Given the description of an element on the screen output the (x, y) to click on. 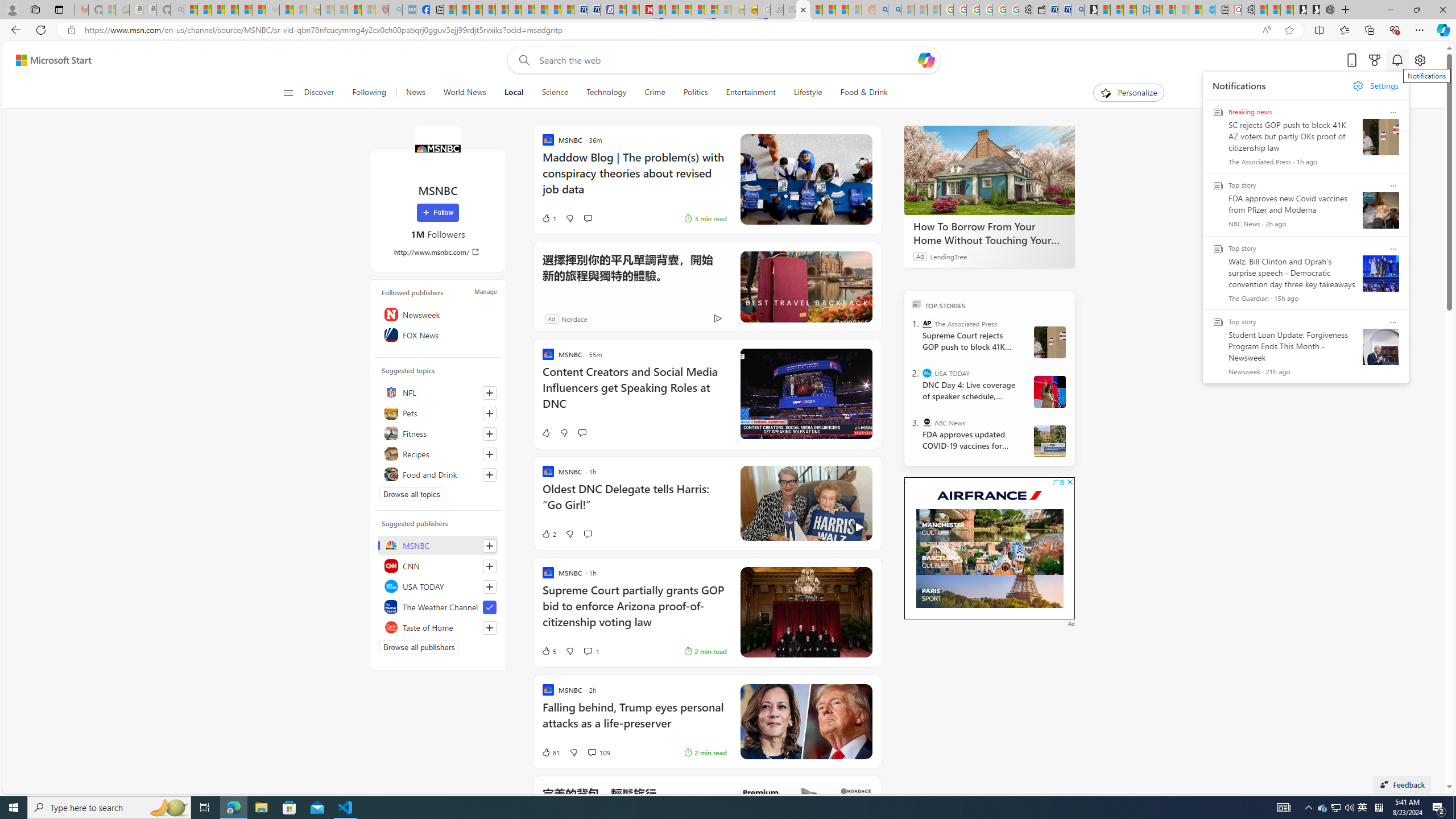
Utah sues federal government - Search (894, 9)
Like (544, 432)
12 Popular Science Lies that Must be Corrected - Sleeping (368, 9)
DITOGAMES AG Imprint - Sleeping (789, 9)
Unfollow this source (489, 607)
Local (513, 92)
Science - MSN (354, 9)
Crime (655, 92)
Microsoft Start Gaming (1090, 9)
Class: hero-image (805, 503)
Home | Sky Blue Bikes - Sky Blue Bikes (1208, 9)
